Given the description of an element on the screen output the (x, y) to click on. 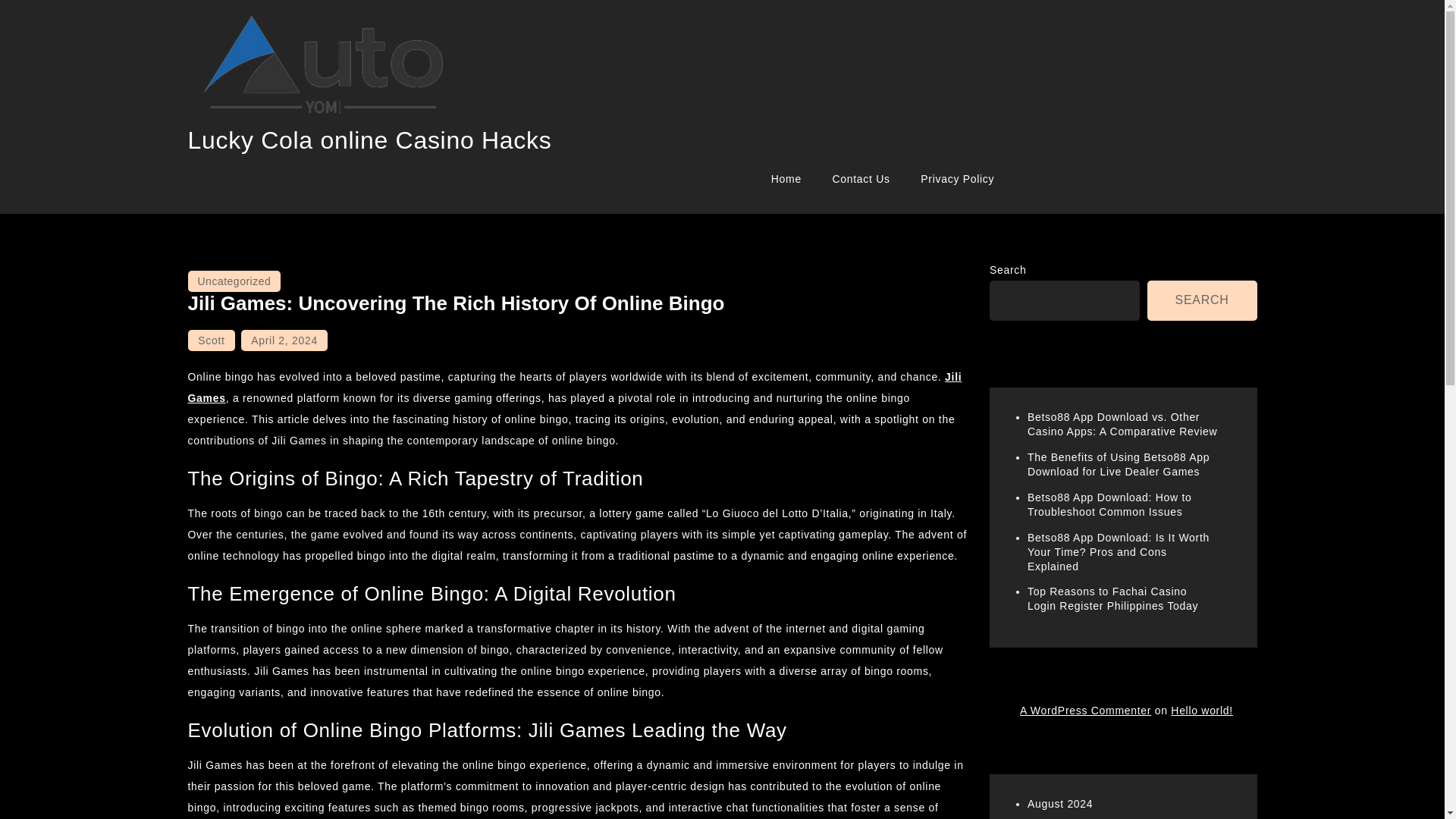
SEARCH (1202, 300)
A WordPress Commenter (1085, 710)
Lucky Cola online Casino Hacks (369, 139)
Scott (210, 340)
Home (786, 178)
April 2, 2024 (284, 340)
Contact Us (860, 178)
